Given the description of an element on the screen output the (x, y) to click on. 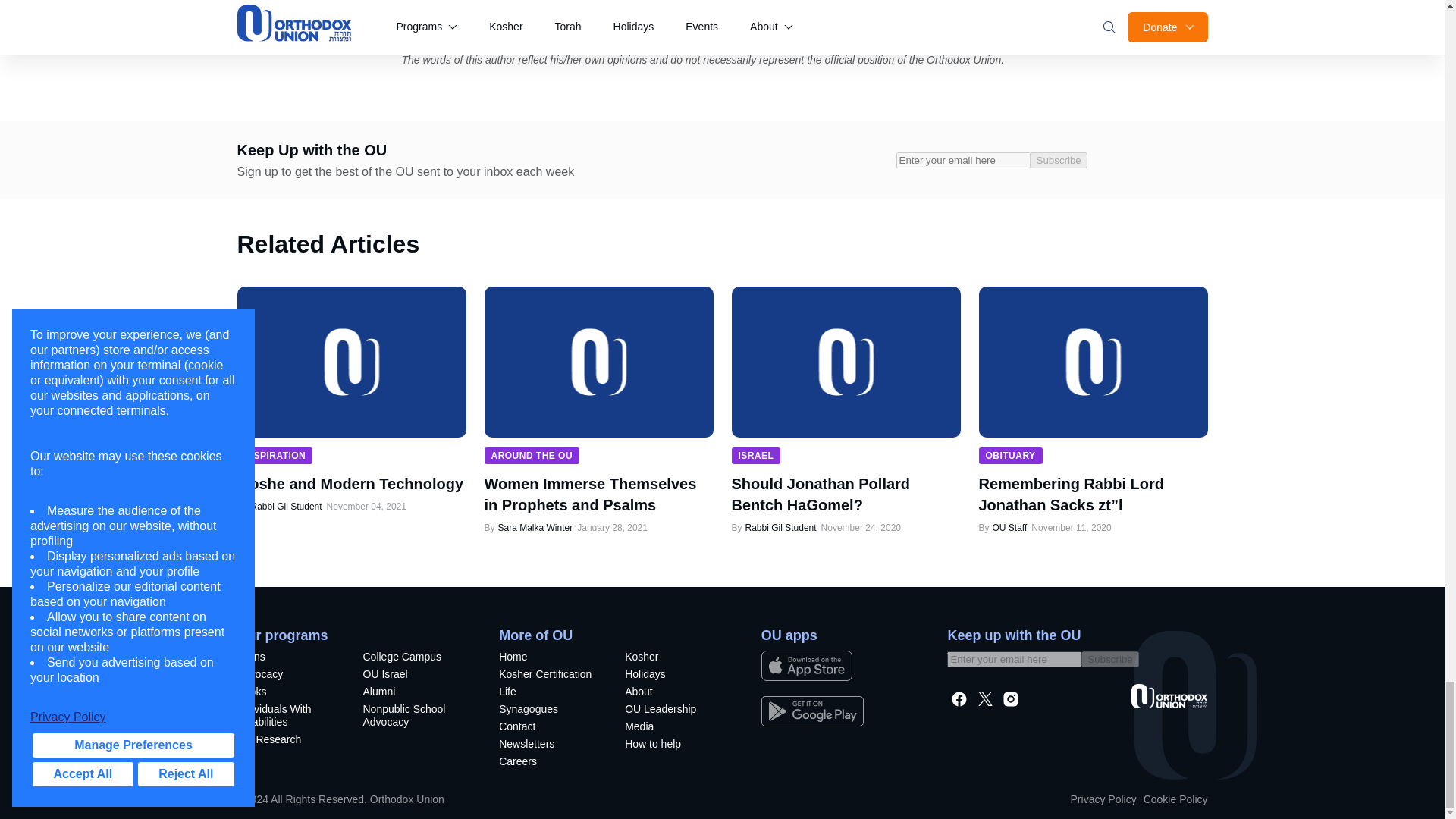
Posts by Rabbi Gil Student (284, 506)
How to get kosher certification (549, 675)
Posts by Rabbi Gil Student (780, 527)
Posts by OU Staff (1009, 527)
Posts by Sara Malka Winter (534, 527)
teachcoalition (413, 717)
OU Research (286, 741)
